Given the description of an element on the screen output the (x, y) to click on. 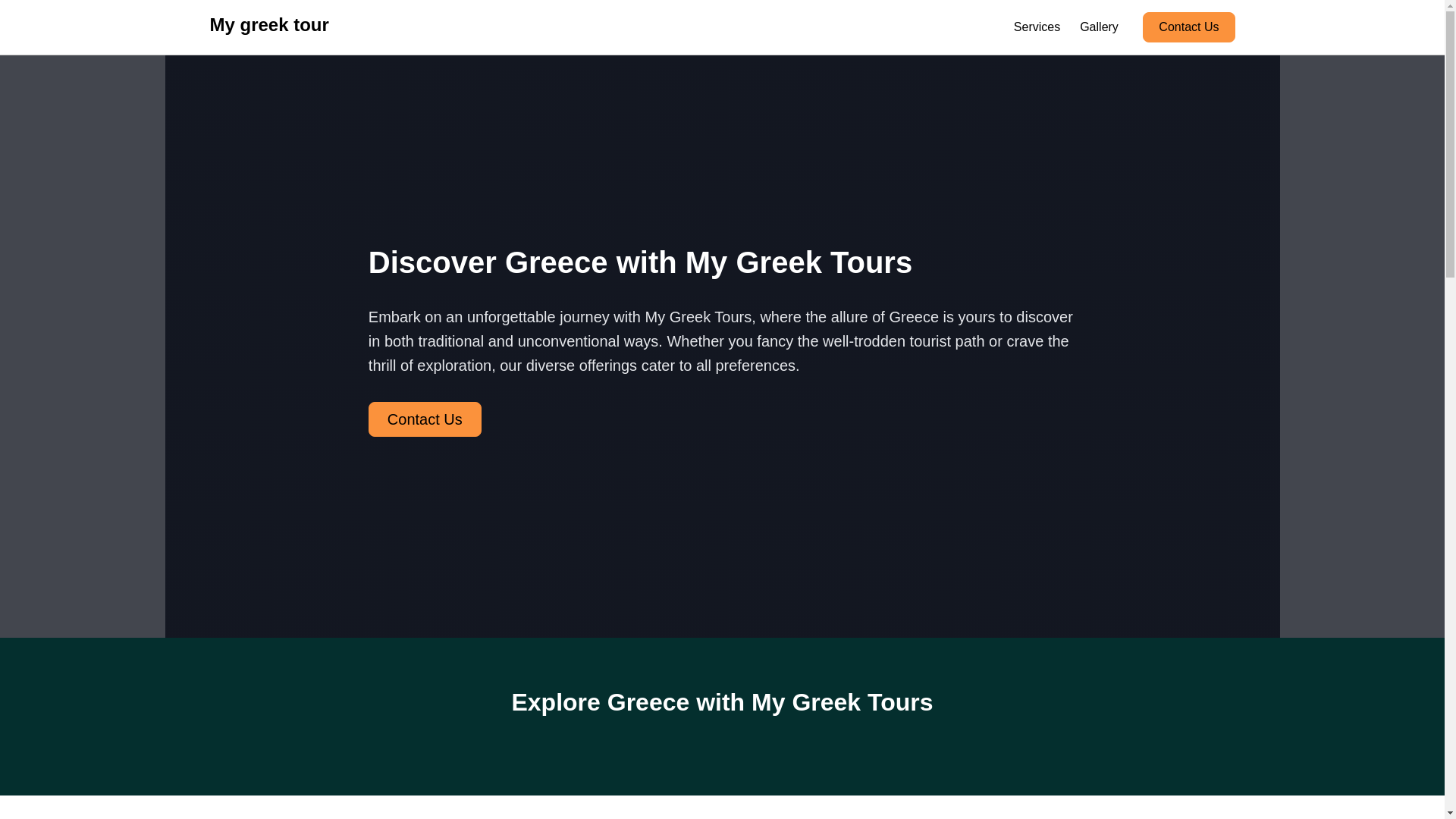
My greek tour (269, 27)
Contact Us (1188, 27)
Services (1037, 26)
Contact Us (424, 430)
Gallery (1099, 26)
